Given the description of an element on the screen output the (x, y) to click on. 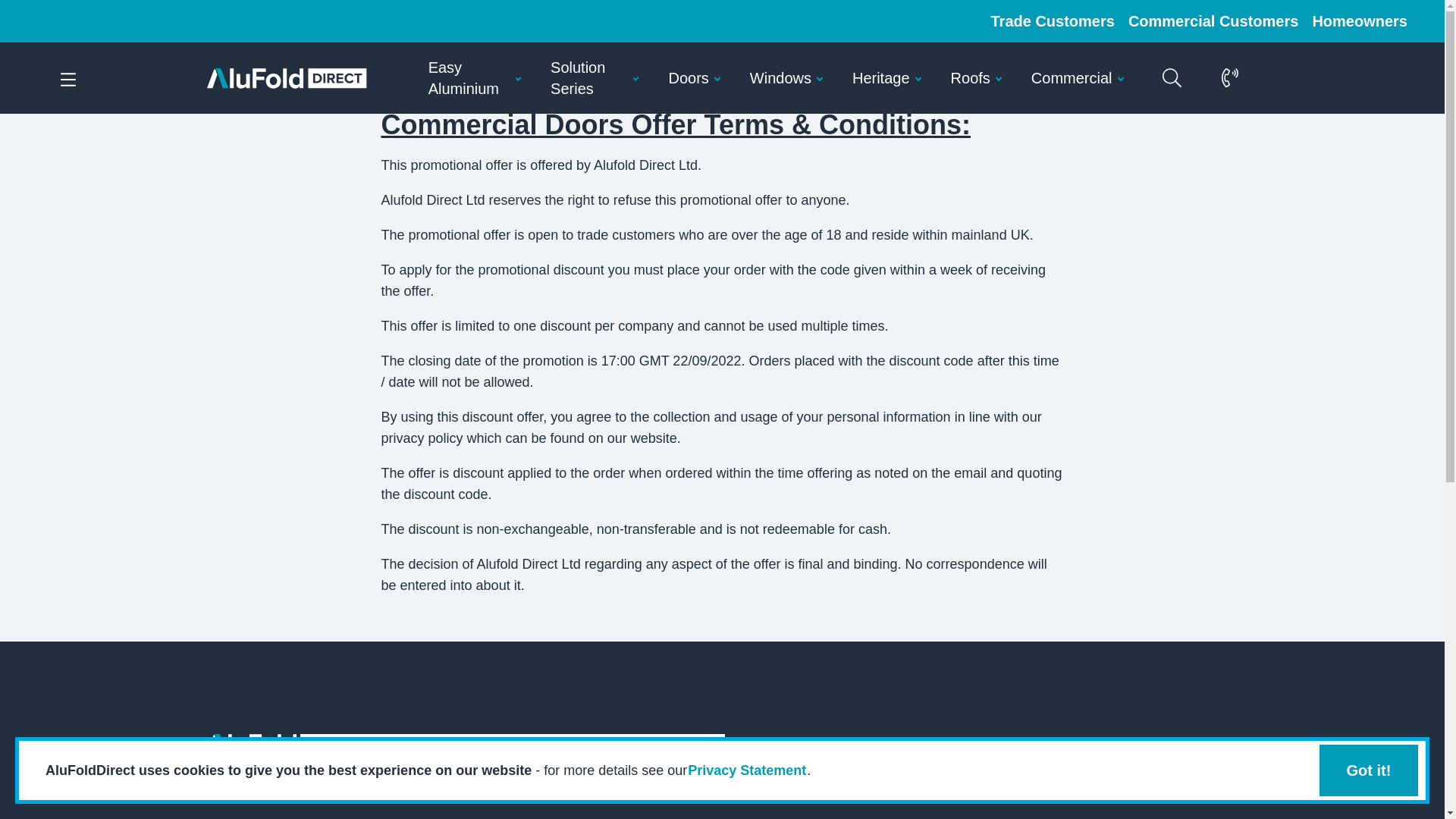
Commercial Customers (1213, 21)
Trade Customers (1052, 21)
Privacy Statement (746, 770)
Got it! (1368, 770)
Homeowners (1359, 21)
